Given the description of an element on the screen output the (x, y) to click on. 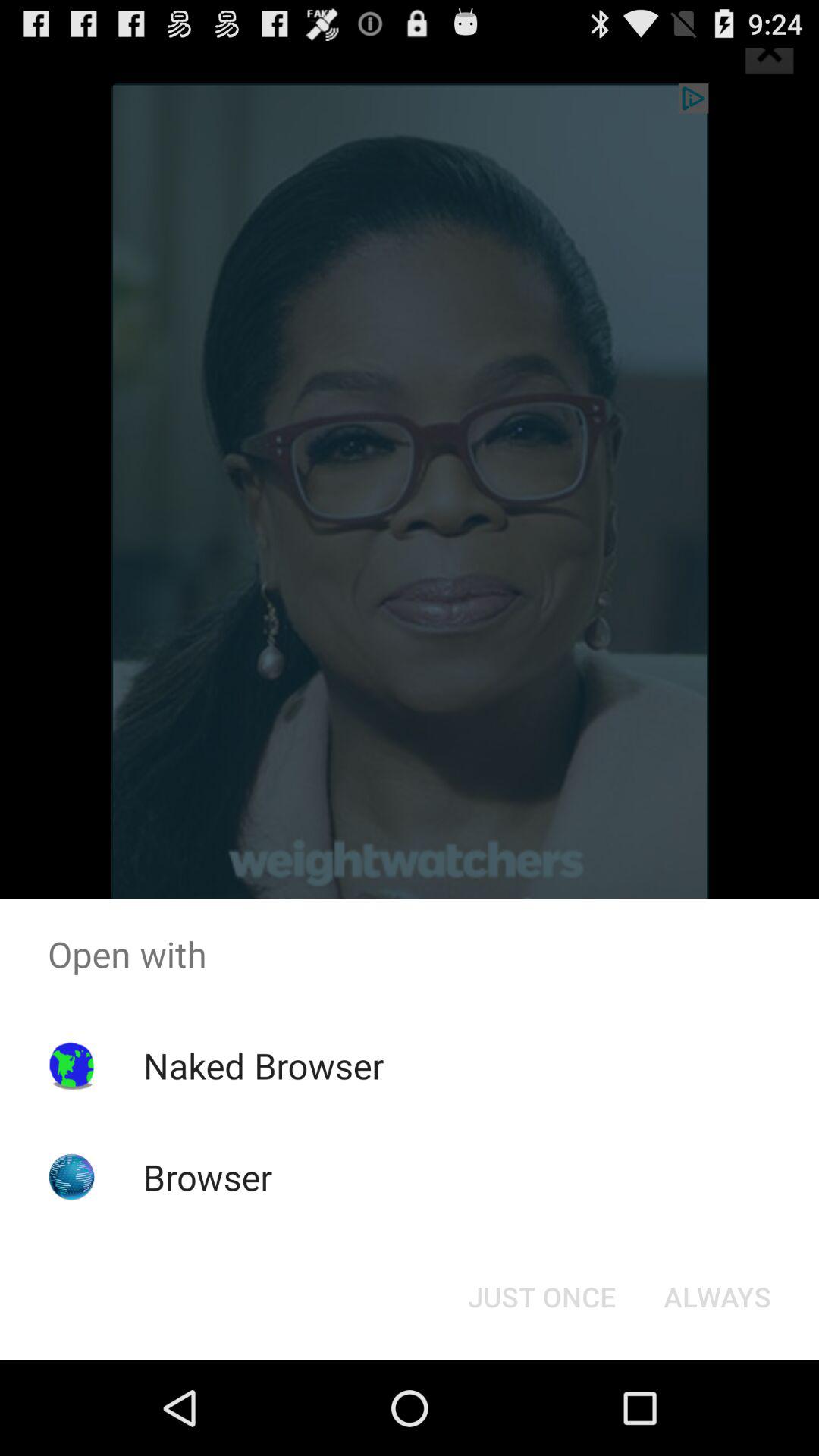
tap the button at the bottom right corner (717, 1296)
